Given the description of an element on the screen output the (x, y) to click on. 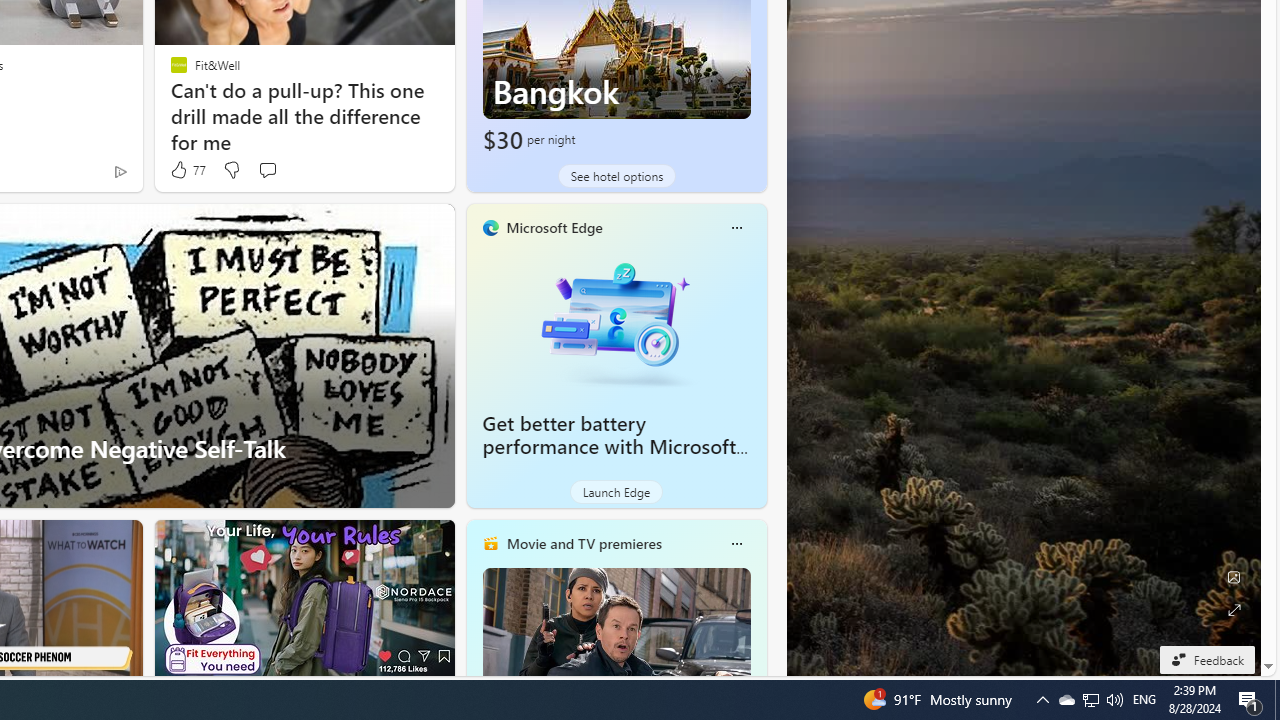
Movie and TV premieres (583, 543)
Get better battery performance with Microsoft Edge (616, 321)
Class: icon-img (736, 543)
Microsoft Edge (553, 227)
Get better battery performance with Microsoft Edge (609, 446)
Expand background (1233, 610)
See hotel options (615, 175)
77 Like (186, 170)
